Given the description of an element on the screen output the (x, y) to click on. 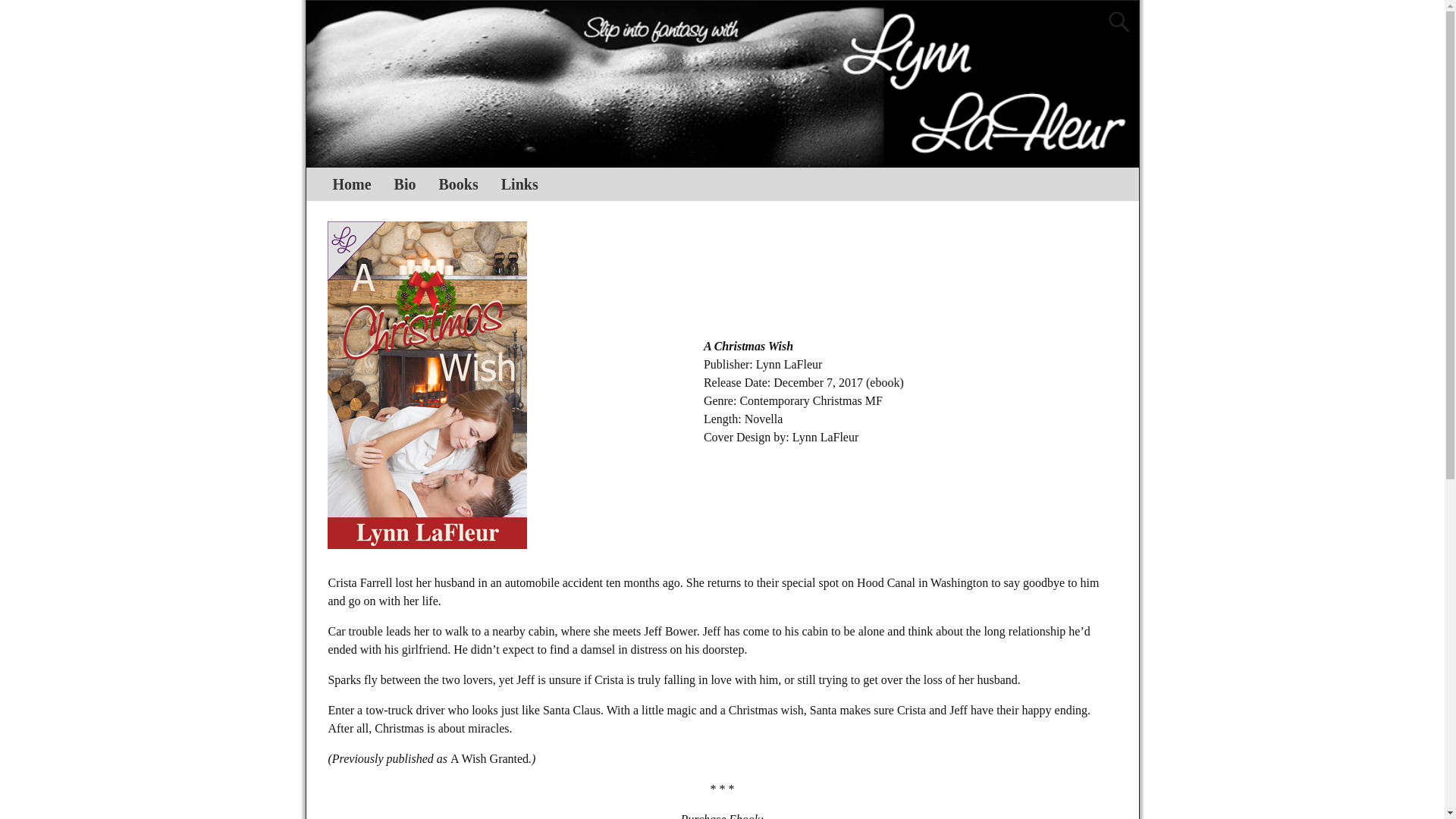
Bio (405, 183)
Home (351, 183)
Links (519, 183)
Home (351, 183)
Books (458, 183)
